Given the description of an element on the screen output the (x, y) to click on. 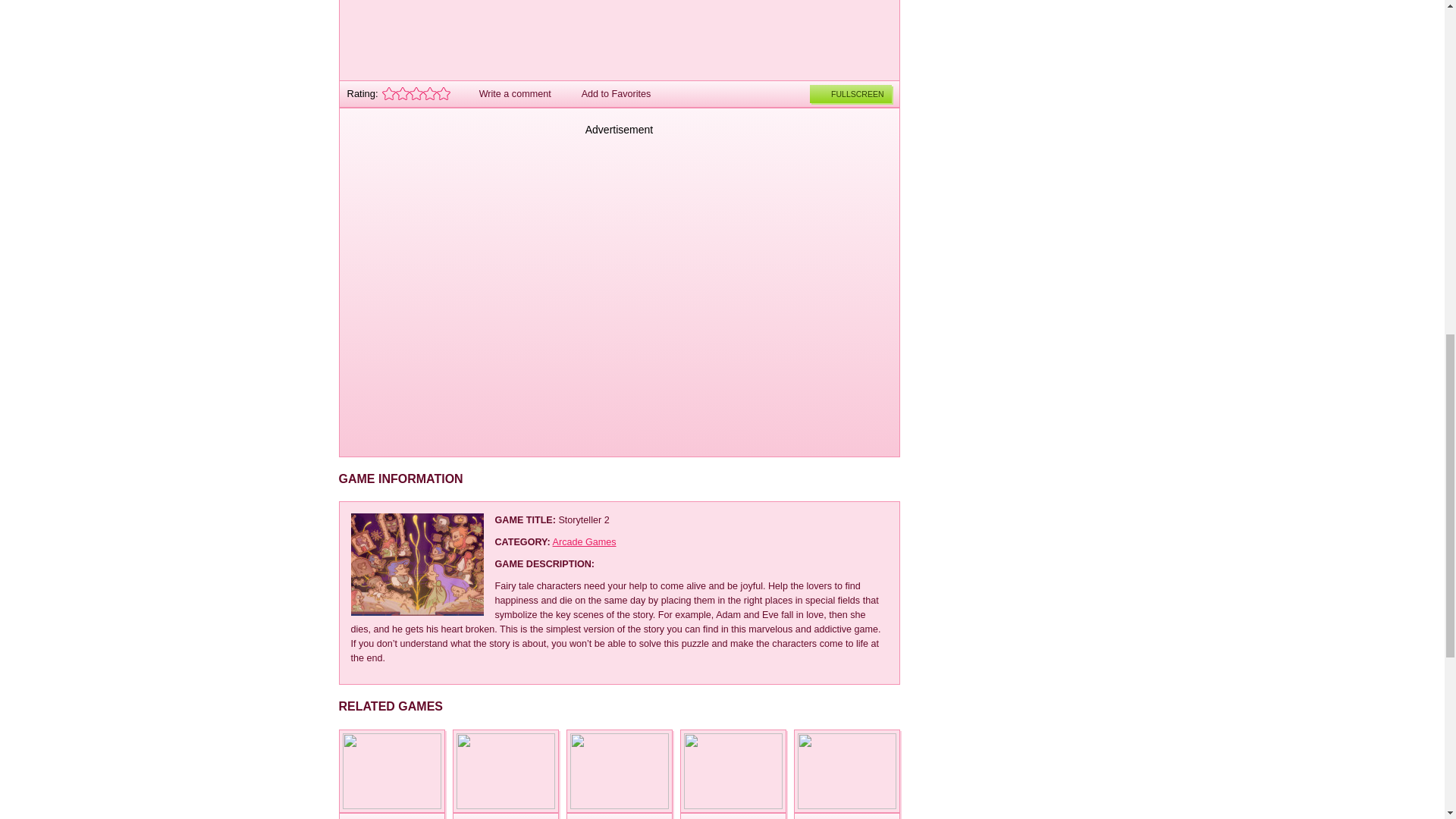
Write a comment (506, 93)
Arcade Games (584, 542)
Penalty Shooters (846, 771)
Add to Favorites (606, 93)
Garten Of Banban (732, 816)
FNF vs Bob Remastered (390, 816)
Minecraft Dungeons Update (618, 816)
2 Stars (402, 92)
Write a comment (506, 93)
FNF vs Bob Remastered (390, 771)
